Given the description of an element on the screen output the (x, y) to click on. 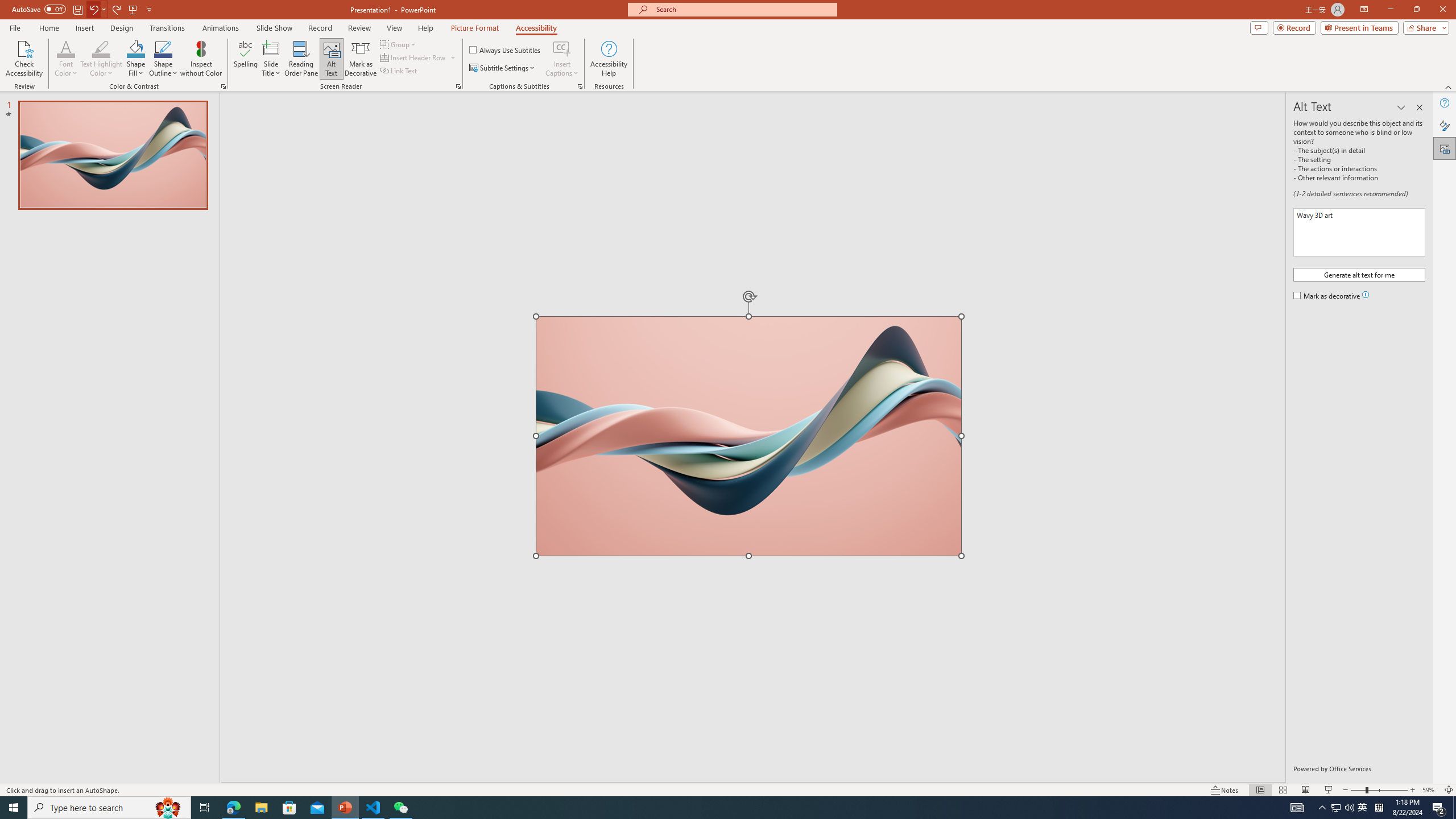
Always Use Subtitles (505, 49)
Mark as Decorative (360, 58)
Color & Contrast (223, 85)
